Given the description of an element on the screen output the (x, y) to click on. 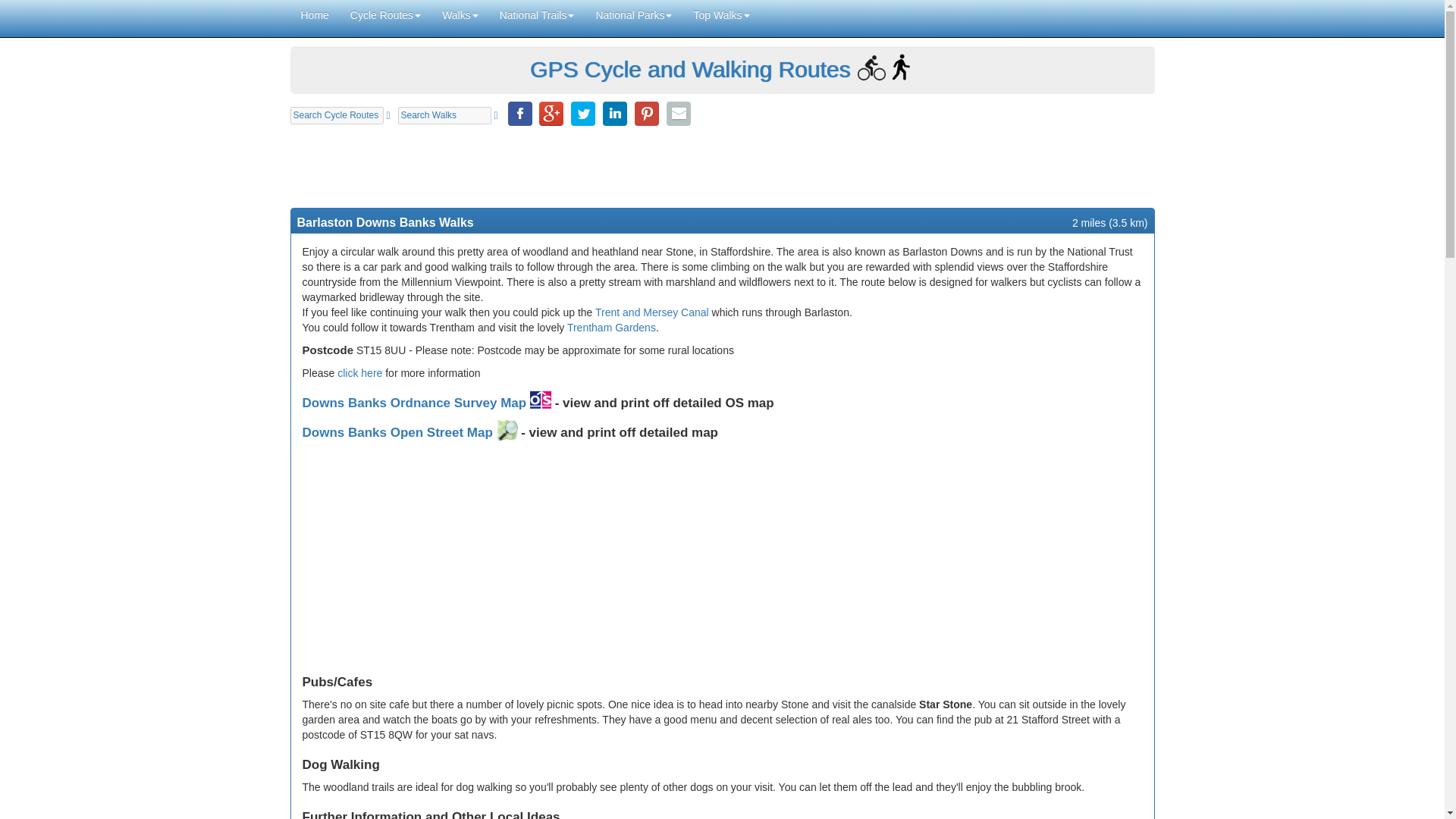
National Trails (537, 15)
Advertisement (721, 165)
Walks (459, 15)
Home (314, 15)
Cycle Routes (384, 15)
